Given the description of an element on the screen output the (x, y) to click on. 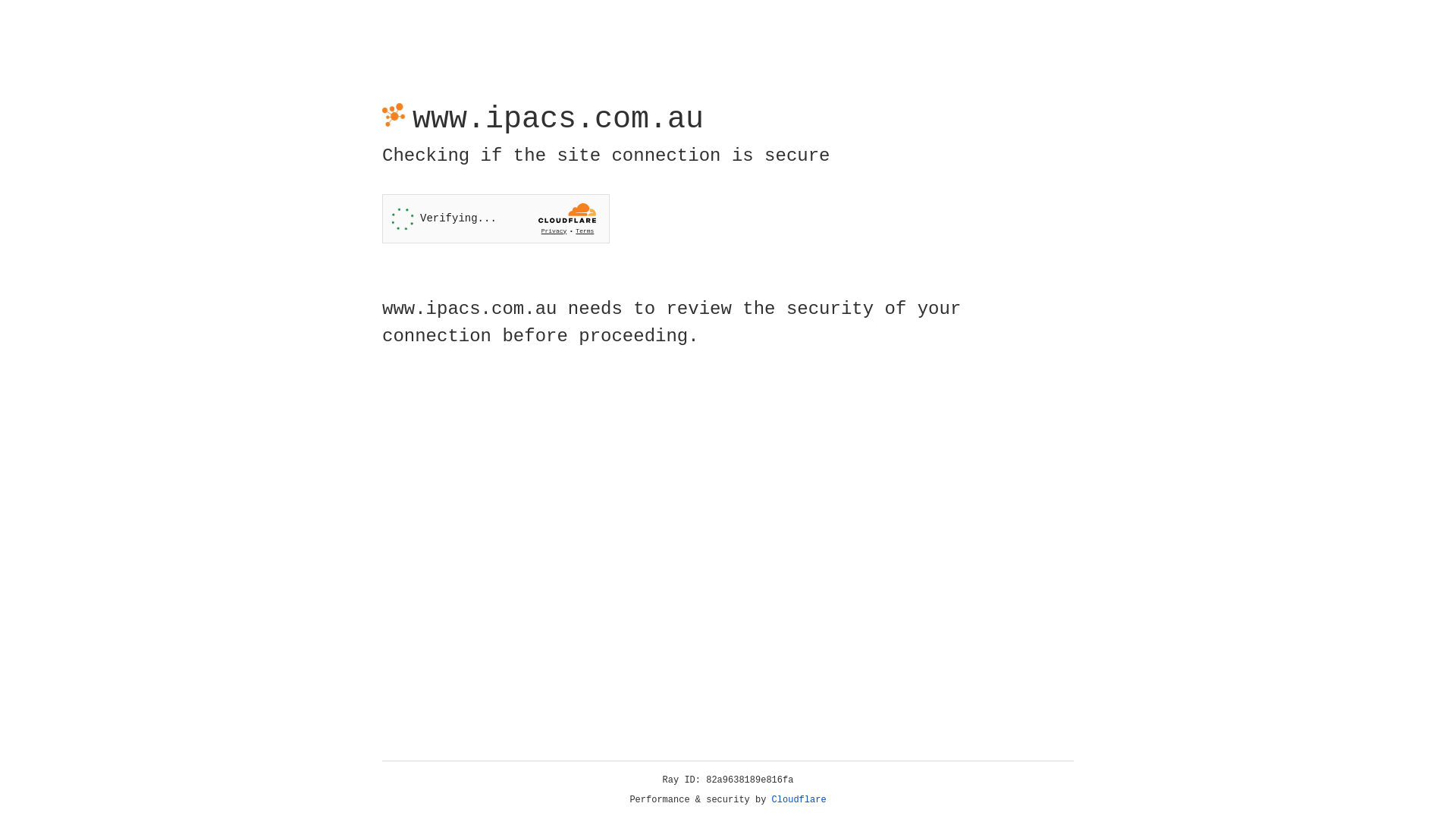
Widget containing a Cloudflare security challenge Element type: hover (495, 218)
Cloudflare Element type: text (798, 799)
